Given the description of an element on the screen output the (x, y) to click on. 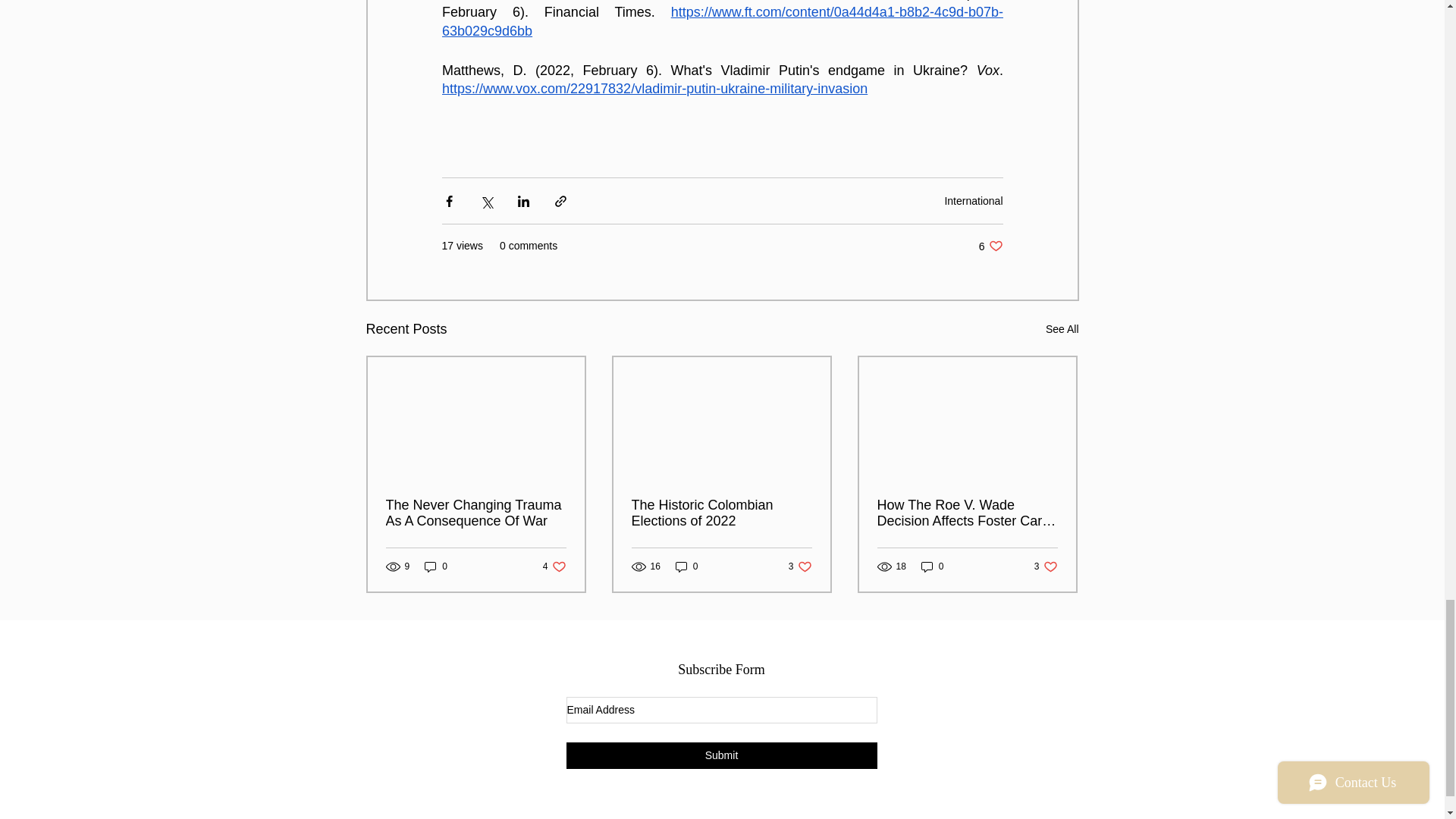
The Never Changing Trauma As A Consequence Of War (554, 566)
0 (800, 566)
International (475, 513)
0 (687, 566)
See All (973, 200)
